Given the description of an element on the screen output the (x, y) to click on. 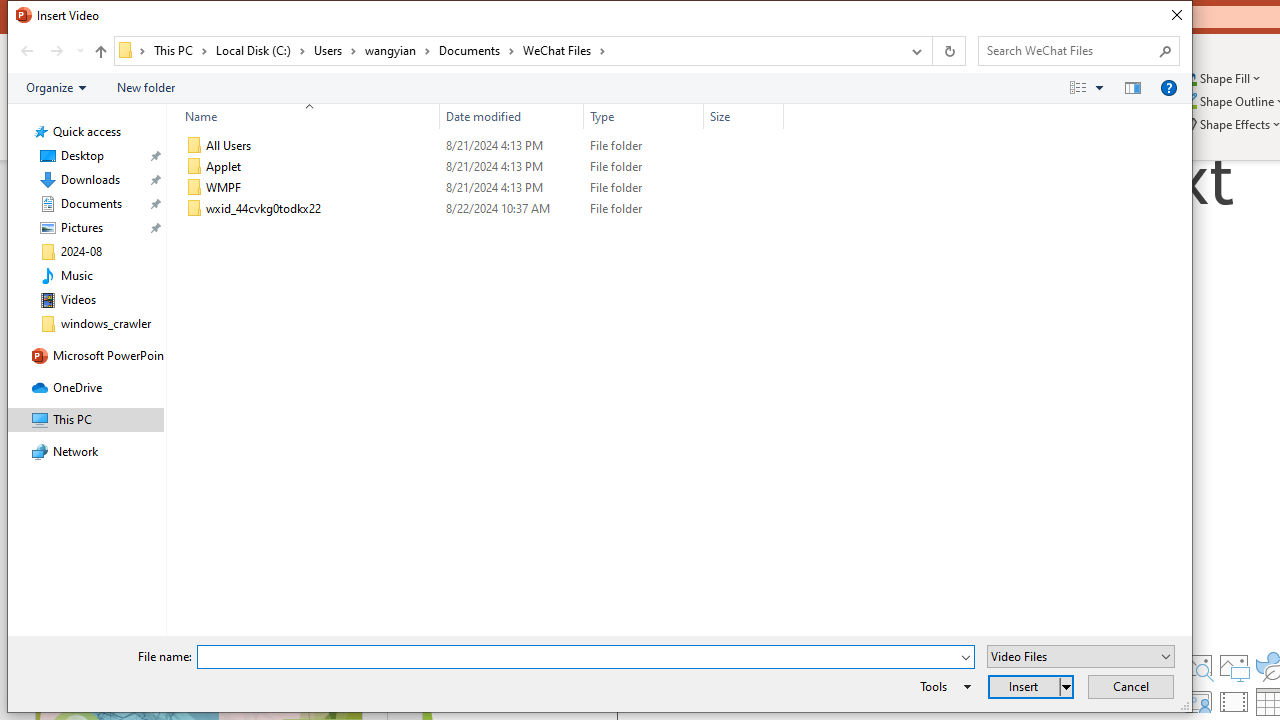
&Help (1168, 87)
Applet (480, 166)
Files of type: (1080, 656)
Name (303, 115)
Command Module (599, 87)
Type (643, 209)
Up to "Documents" (Alt + Up Arrow) (100, 52)
All locations (132, 50)
Forward (Alt + Right Arrow) (56, 51)
WMPF (480, 187)
